Given the description of an element on the screen output the (x, y) to click on. 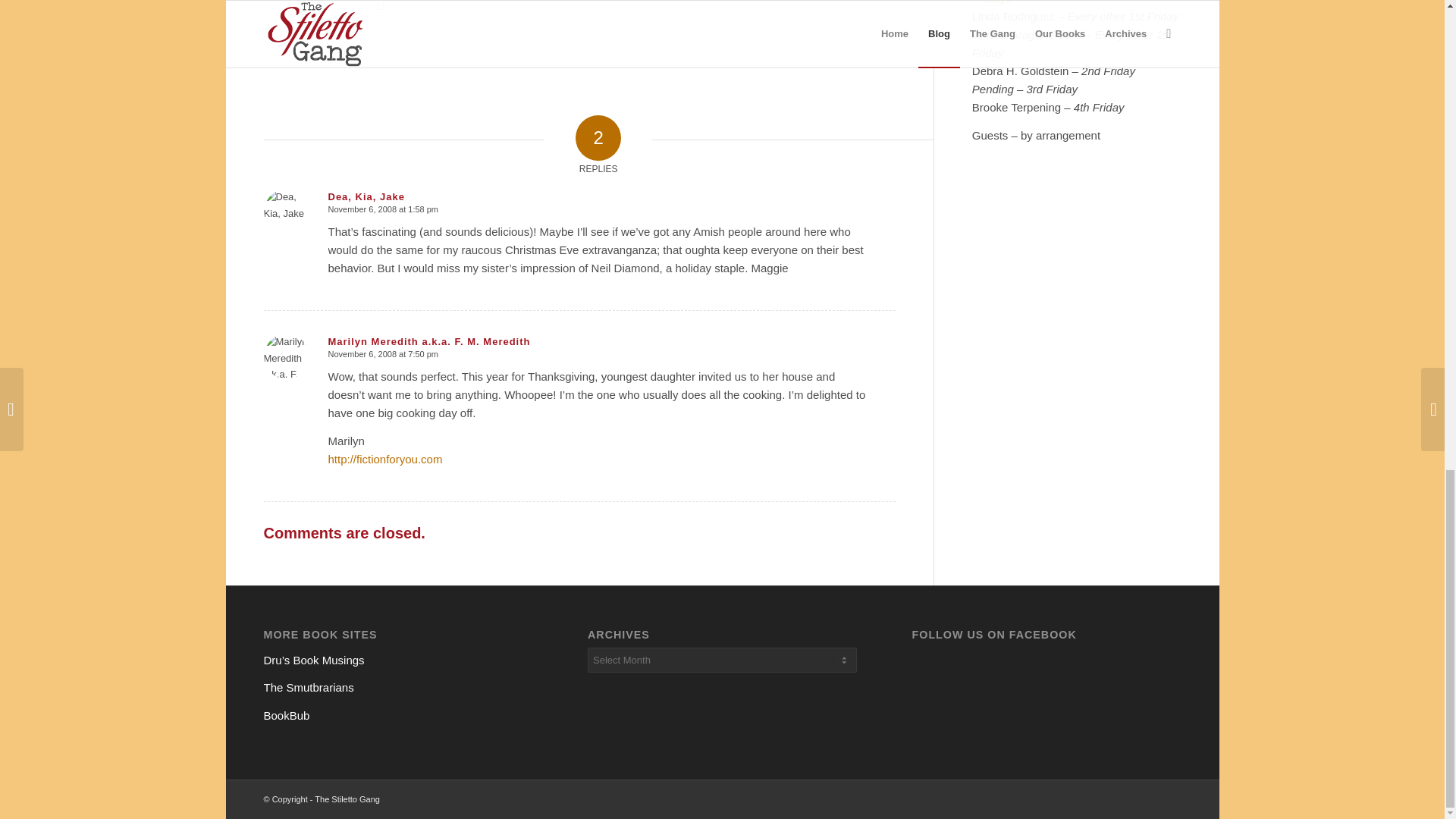
The Zen of Giving (301, 11)
November 6, 2008 at 1:58 pm (382, 208)
Abridging Freedom of Speech (380, 29)
November 6, 2008 at 7:50 pm (382, 353)
